Given the description of an element on the screen output the (x, y) to click on. 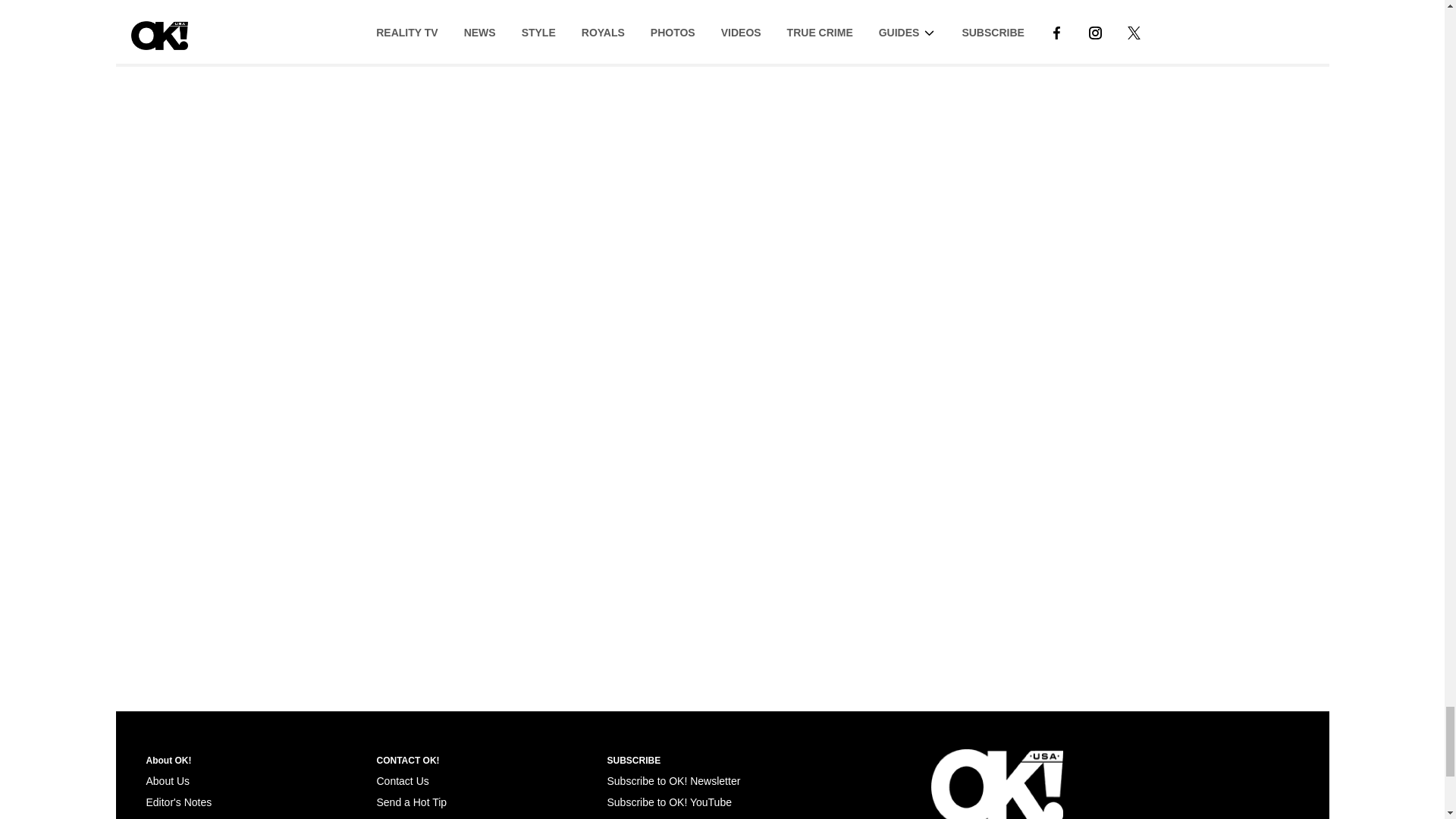
Send a Hot Tip (410, 802)
Editor's Notes (178, 802)
About Us (167, 780)
Contact Us (401, 780)
Privacy Policy (178, 818)
